Given the description of an element on the screen output the (x, y) to click on. 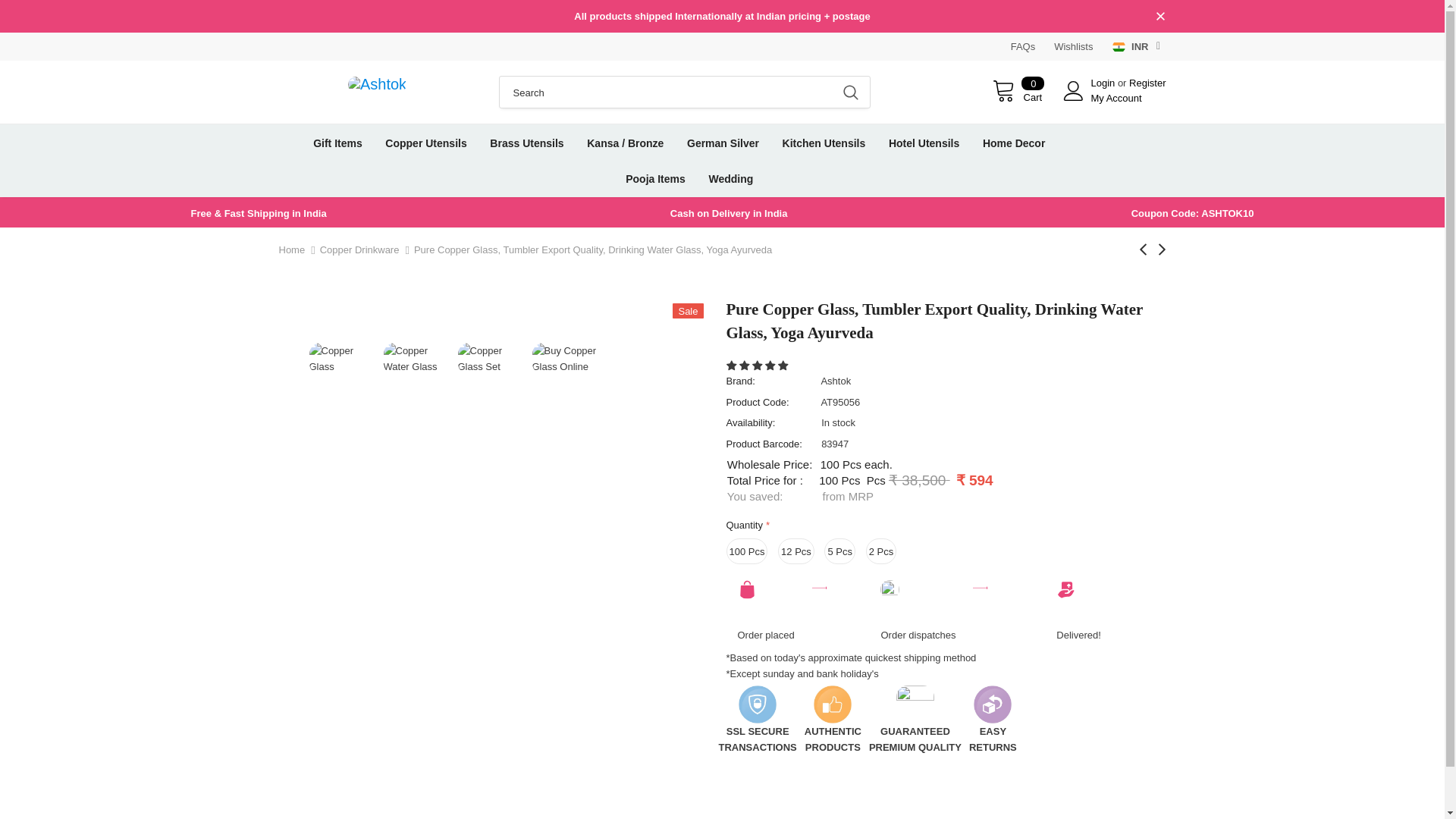
Wishlists (1073, 46)
Logo (377, 84)
Login (1103, 82)
Register (1147, 82)
My Account (1115, 98)
close (1160, 17)
FAQs (1022, 46)
Gift Items (337, 142)
